Given the description of an element on the screen output the (x, y) to click on. 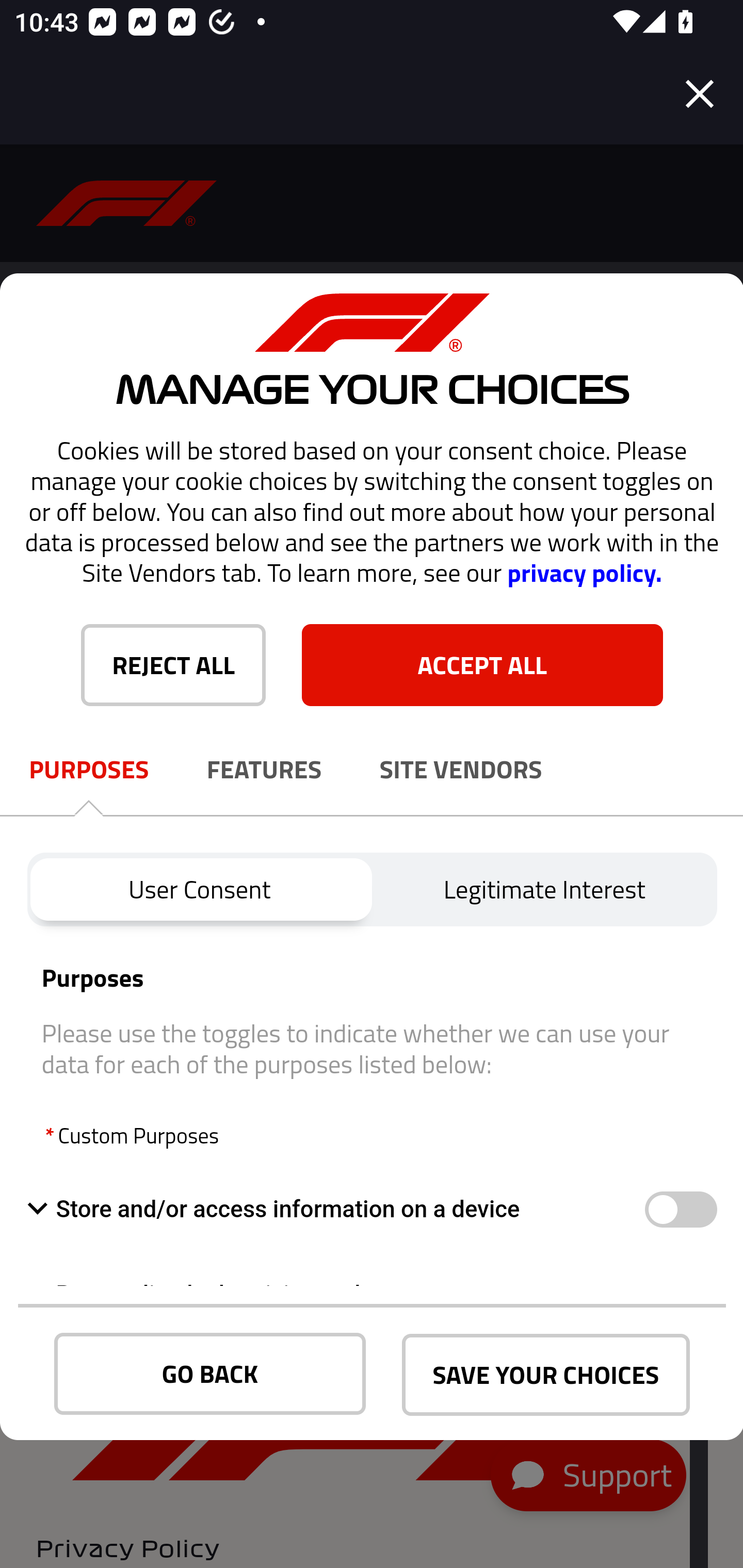
Close (699, 93)
Formula1 (127, 203)
privacy policy. (583, 572)
REJECT ALL (173, 664)
ACCEPT ALL (481, 664)
PURPOSES (89, 769)
FEATURES (264, 769)
SITE VENDORS (461, 769)
User Consent (199, 889)
Legitimate Interest (545, 889)
Store and/or access information on a device (335, 1209)
Store and/or access information on a device (680, 1210)
GO BACK (210, 1373)
SAVE YOUR CHOICES (546, 1374)
